Given the description of an element on the screen output the (x, y) to click on. 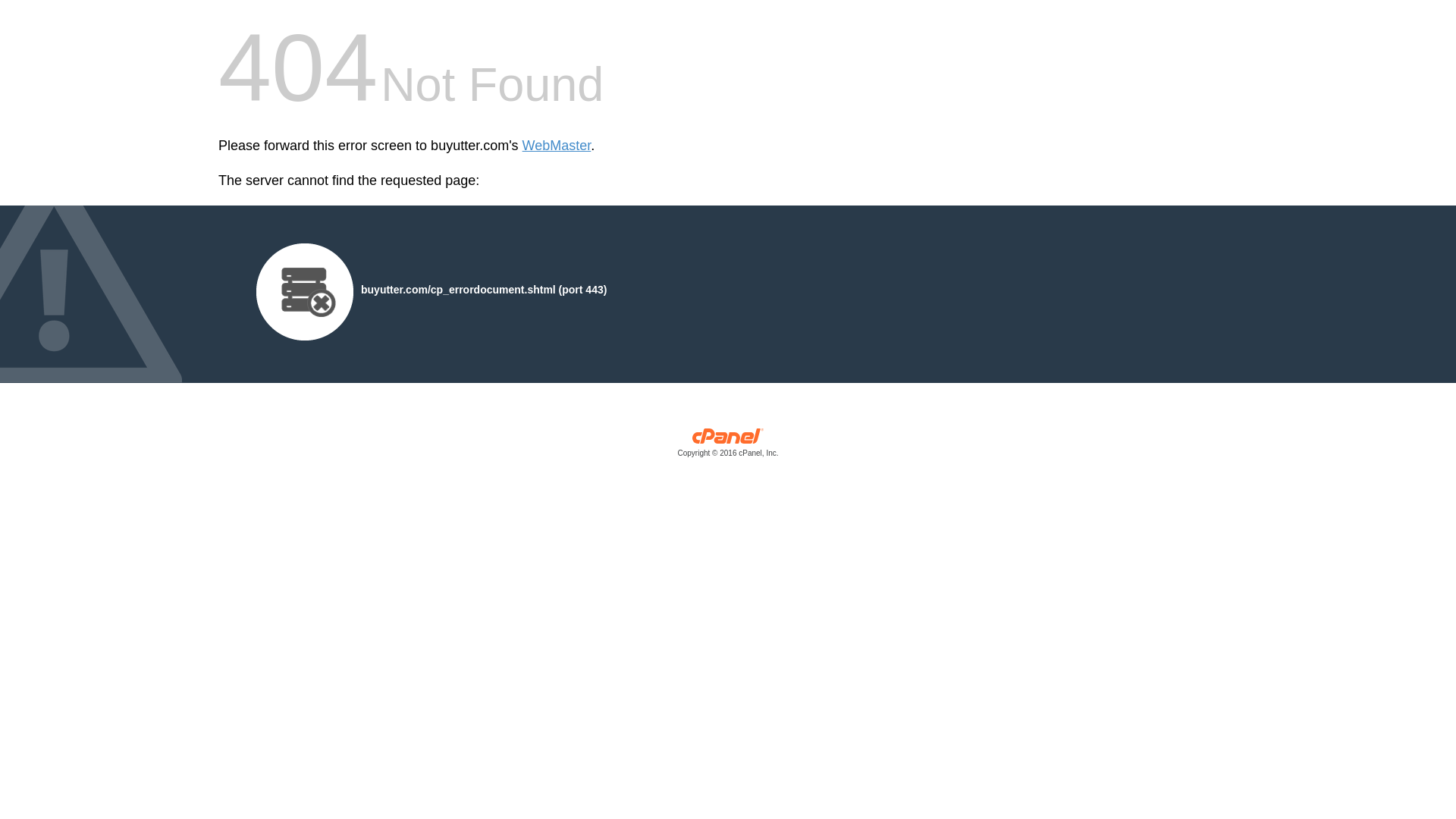
cPanel, Inc. (727, 446)
WebMaster (556, 145)
